Given the description of an element on the screen output the (x, y) to click on. 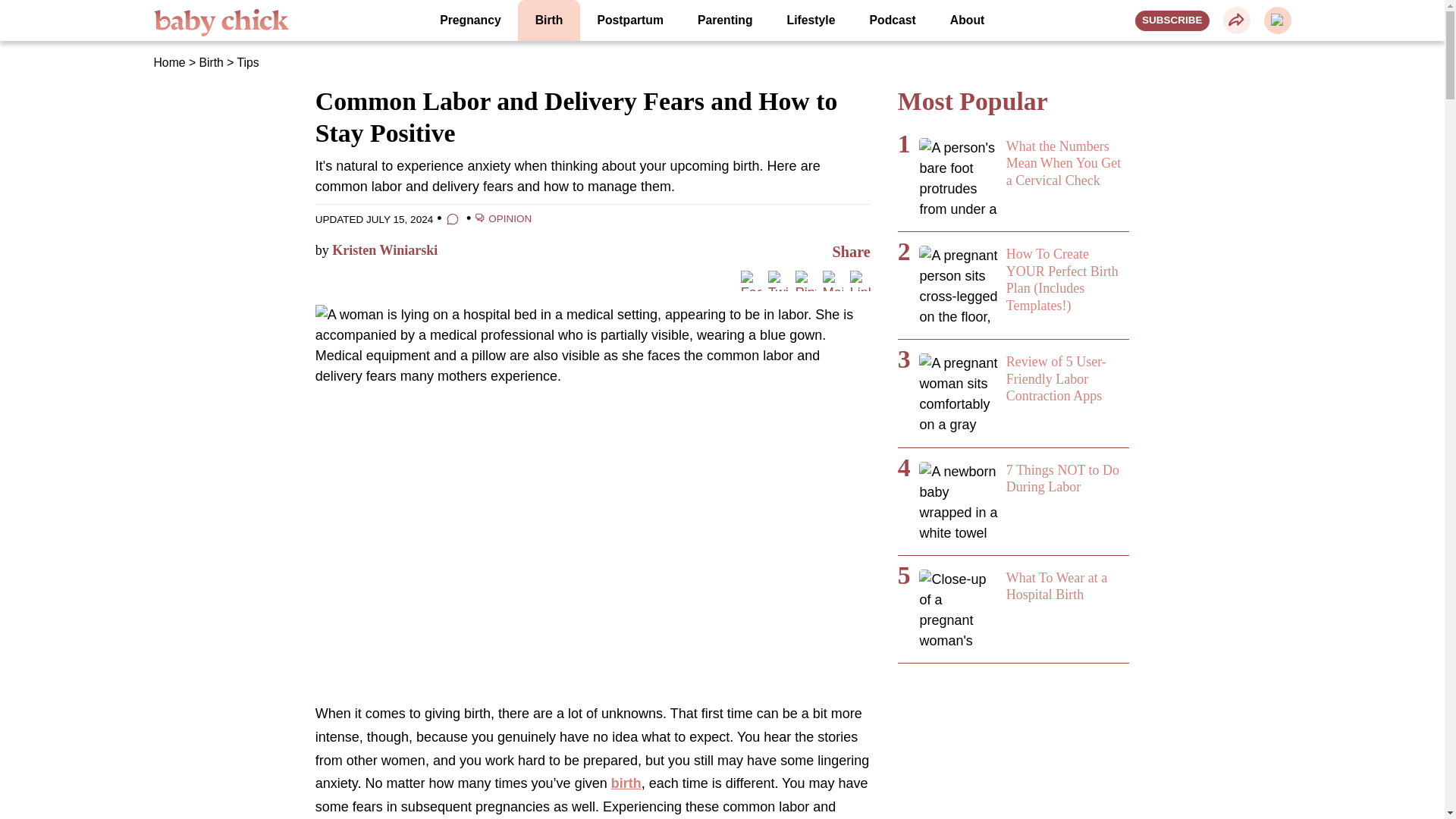
Birth (548, 20)
Pregnancy (470, 20)
